Given the description of an element on the screen output the (x, y) to click on. 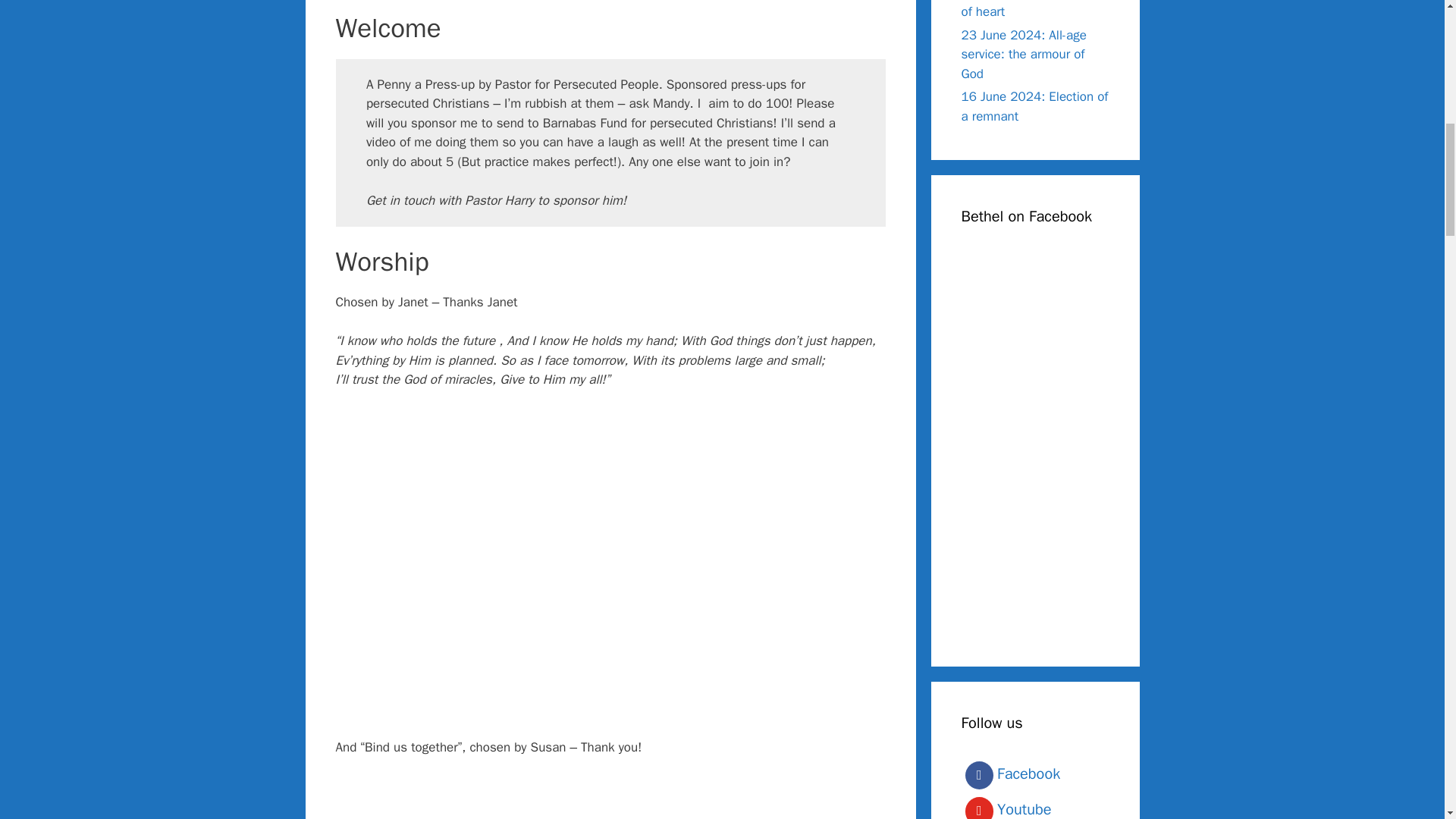
Facebook (1034, 774)
Youtube (1034, 806)
